Given the description of an element on the screen output the (x, y) to click on. 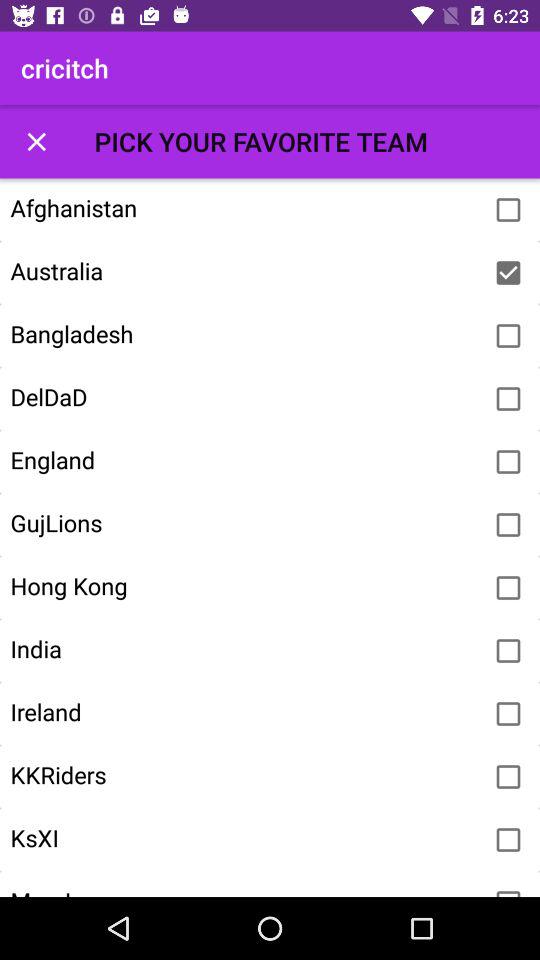
choose ireland selection (508, 714)
